Given the description of an element on the screen output the (x, y) to click on. 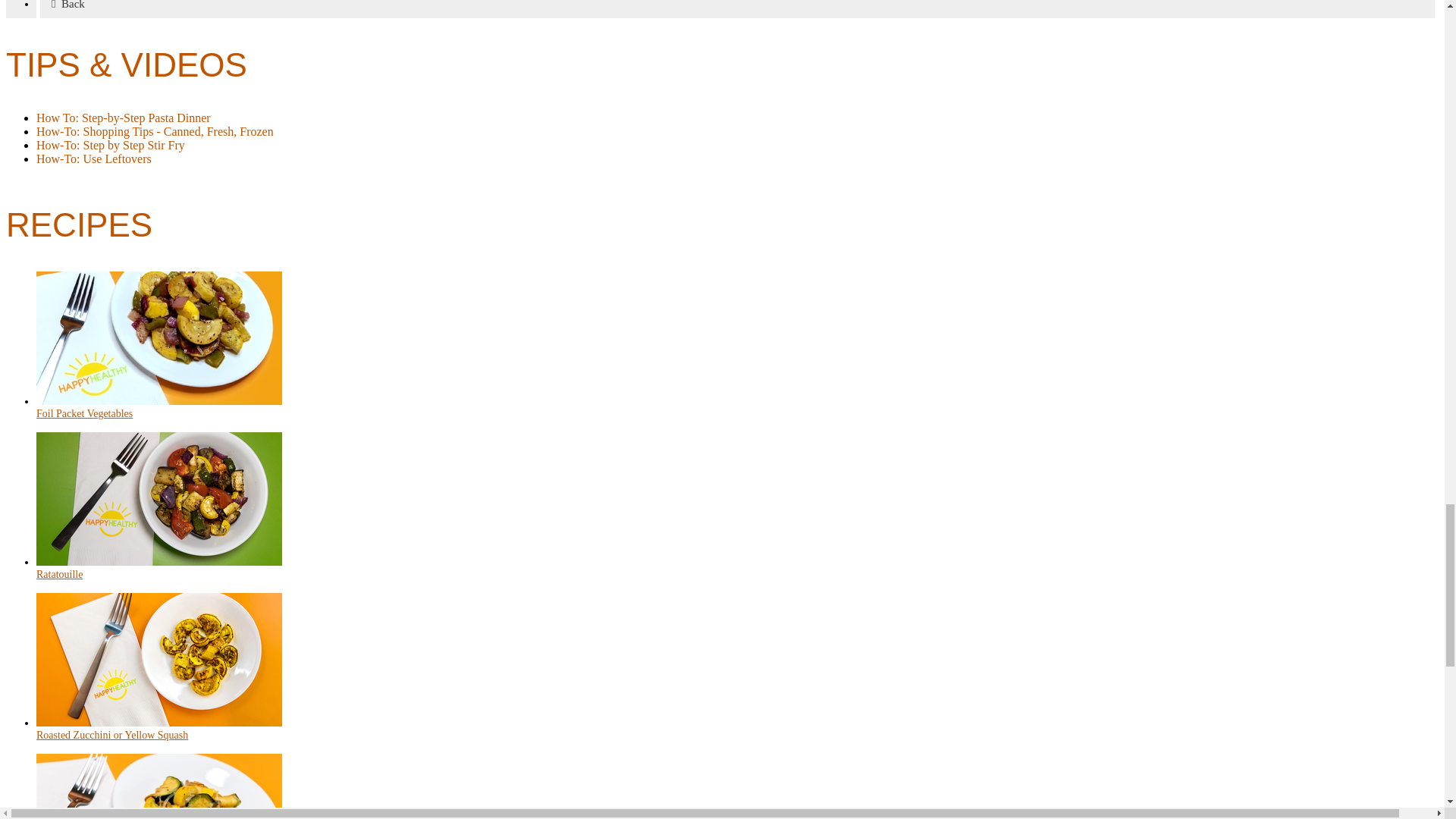
How-To: Use Leftovers (93, 158)
Back (737, 9)
Ratatouille (59, 573)
Foil Packet Vegetables (84, 413)
Roasted Zucchini or Yellow Squash (111, 735)
Go back one page (737, 9)
How-To: Shopping Tips - Canned, Fresh, Frozen (154, 131)
How-To: Step by Step Stir Fry (110, 144)
How To: Step-by-Step Pasta Dinner (123, 117)
